Given the description of an element on the screen output the (x, y) to click on. 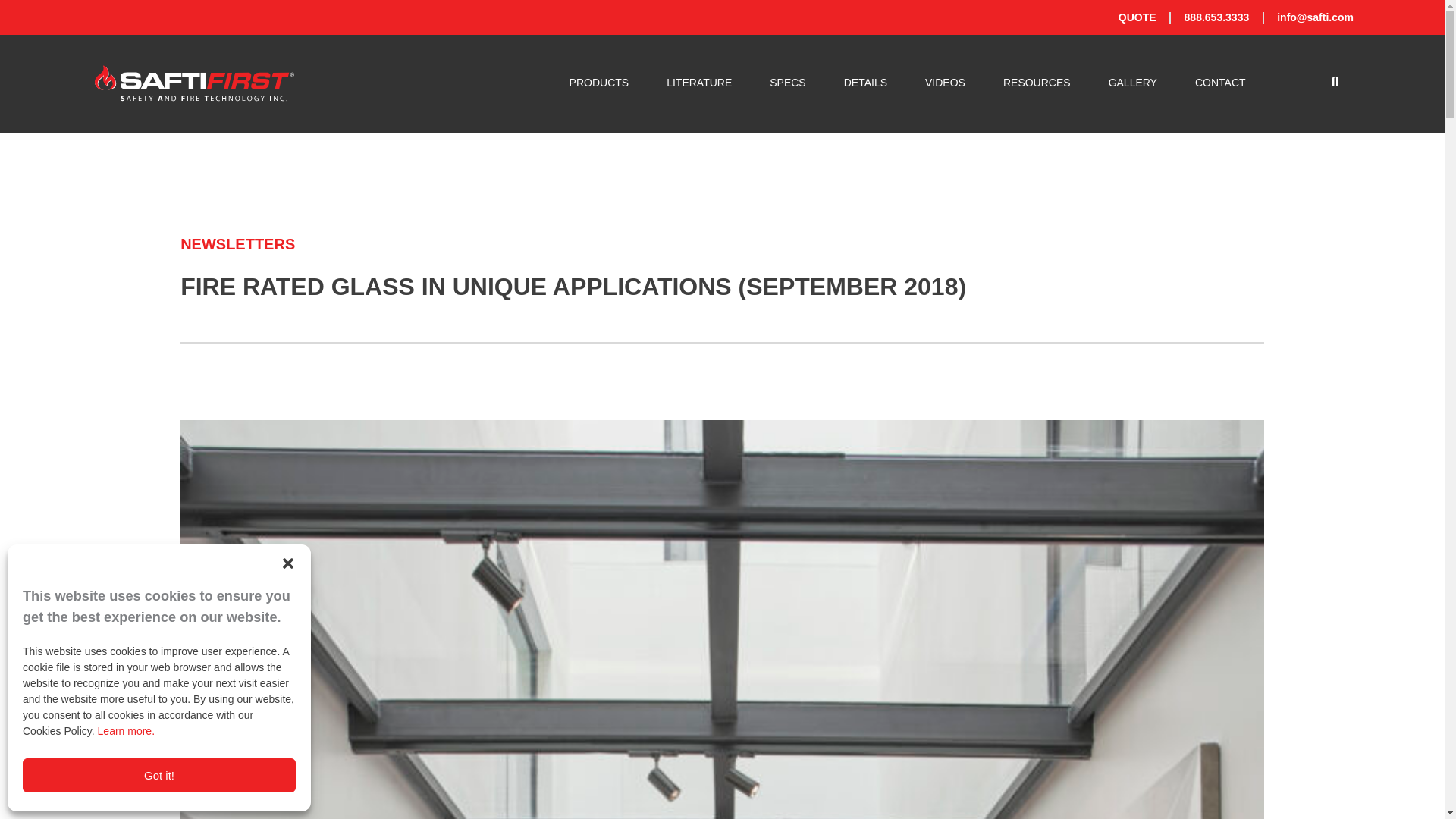
PRODUCTS (599, 83)
Got it! (159, 775)
QUOTE (1137, 17)
Learn more. (125, 730)
888.653.3333 (1217, 17)
